Given the description of an element on the screen output the (x, y) to click on. 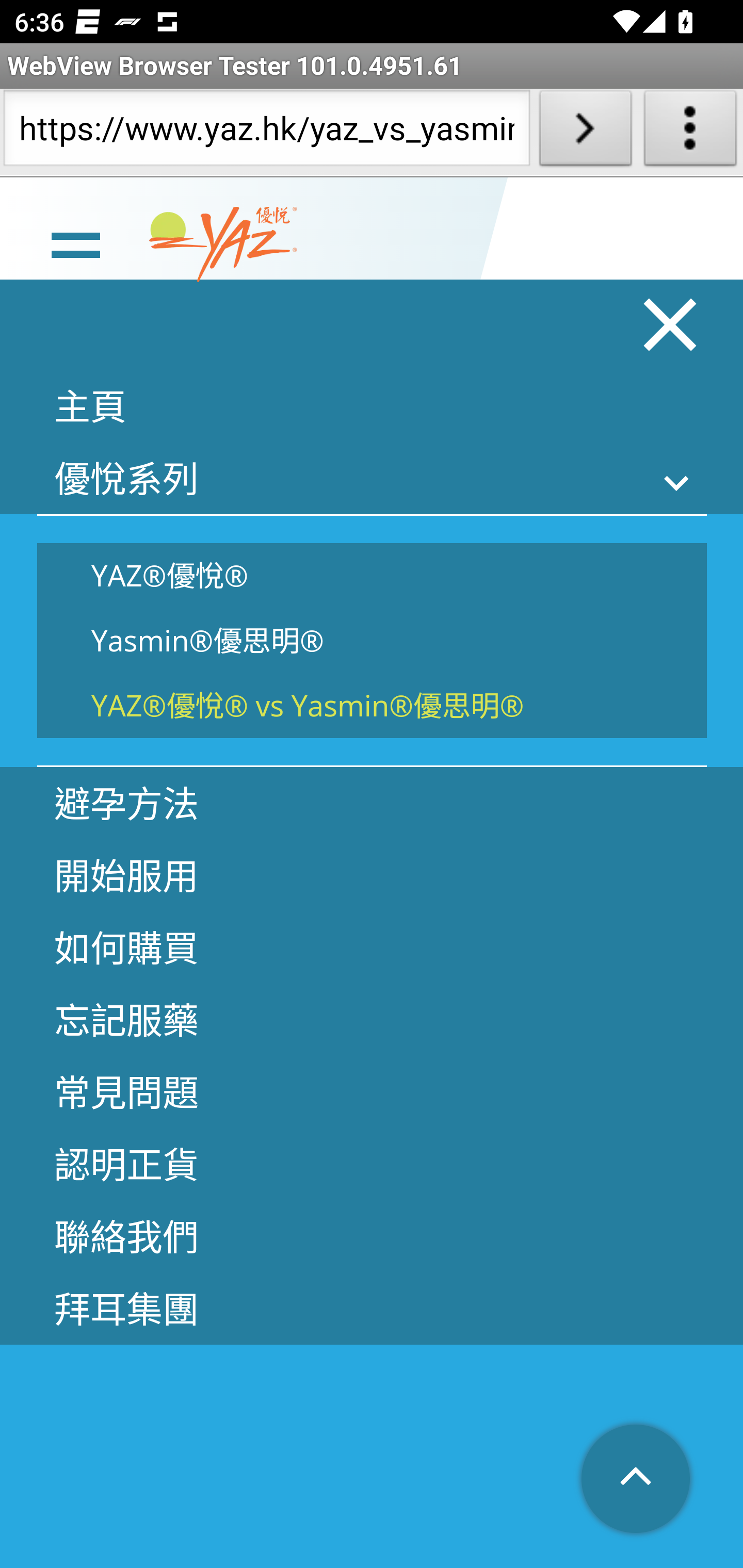
Load URL (585, 132)
About WebView (690, 132)
www.yaz (222, 244)
line Toggle burger menu (75, 242)
 Close burger menu (670, 323)
主頁 (371, 405)
優悅系列 (371, 477)
Toggle sub menu (677, 482)
YAZ®優悅® (372, 574)
Yasmin®優思明® (372, 640)
YAZ®優悅® vs Yasmin®優思明® (372, 704)
避孕方法 (371, 802)
開始服用 (371, 874)
如何購買 (371, 946)
忘記服藥 (371, 1018)
常見問題 (371, 1090)
認明正貨 (371, 1163)
聯絡我們 (371, 1235)
拜耳集團 (371, 1308)
 (636, 1480)
